Given the description of an element on the screen output the (x, y) to click on. 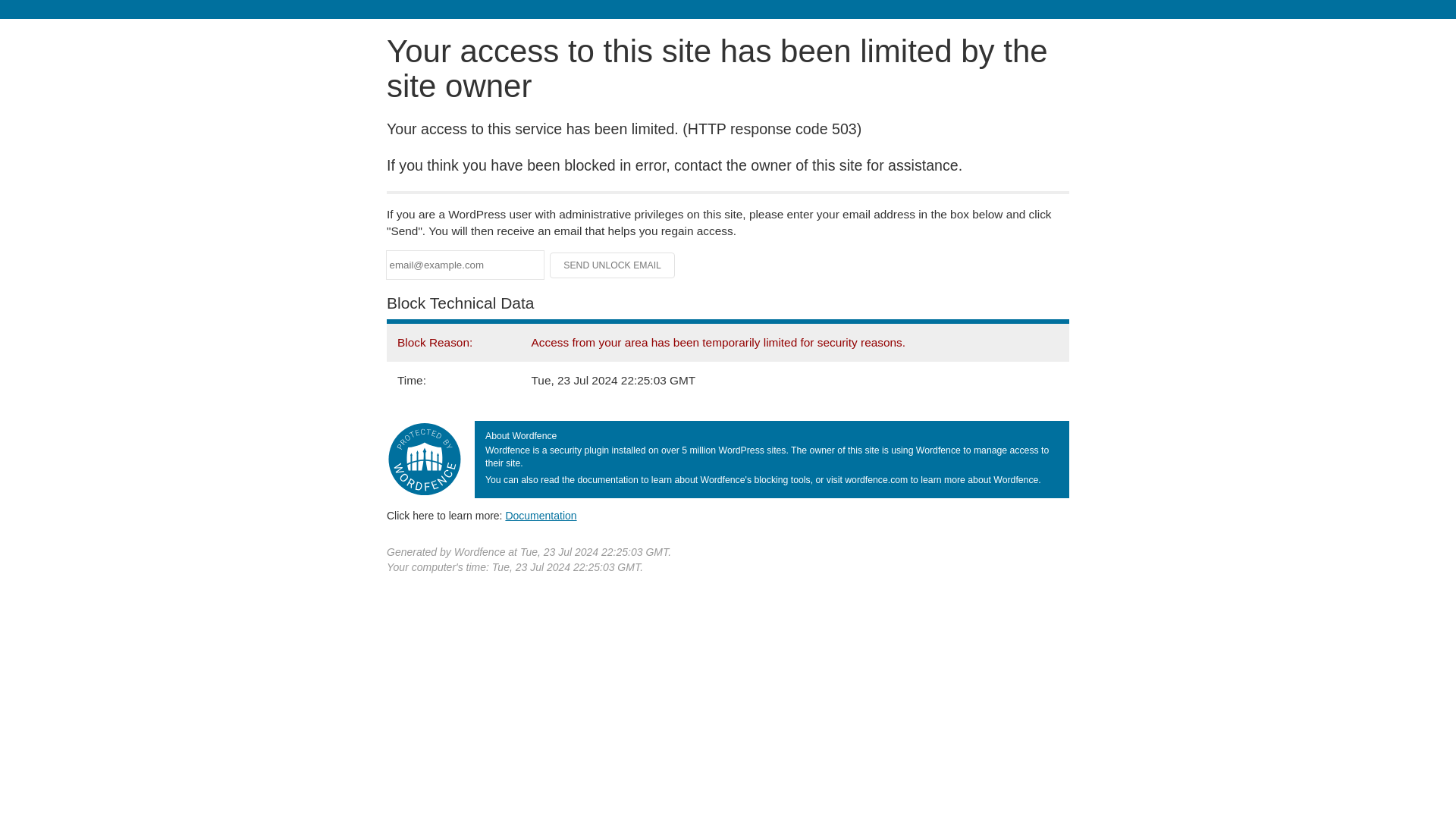
Documentation (540, 515)
Send Unlock Email (612, 265)
Send Unlock Email (612, 265)
